Given the description of an element on the screen output the (x, y) to click on. 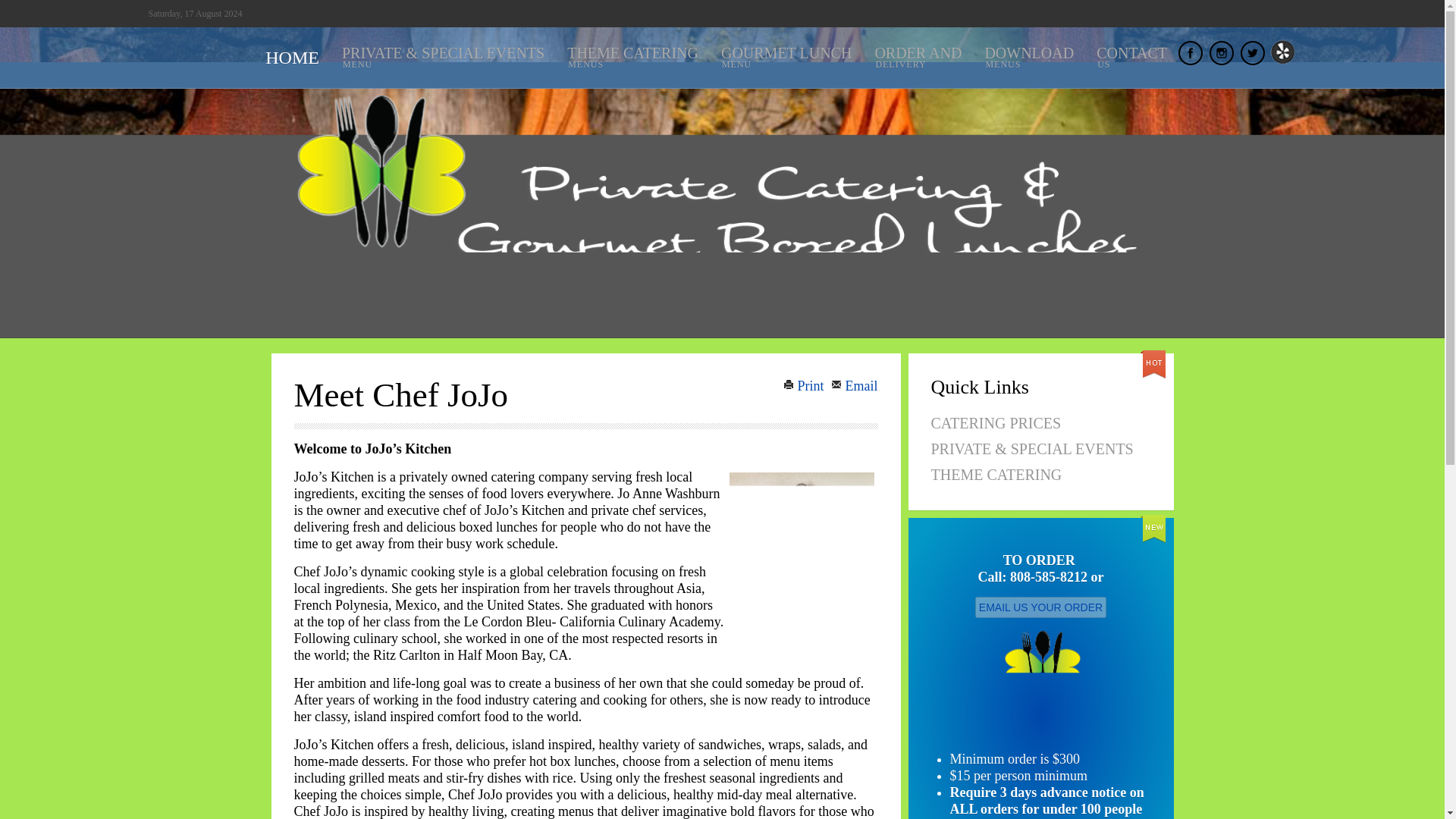
Visit JoJo's Kitchen on Instagram (1028, 57)
Print (917, 57)
JoJo's Kitchen - Gourmet Lunch Menu PDF (786, 57)
JoJo's Kitchen on Facebook (1221, 60)
Follow JoJo's Kitchen on Twitter (805, 385)
Read our Reviews on Yelp (1028, 57)
